Given the description of an element on the screen output the (x, y) to click on. 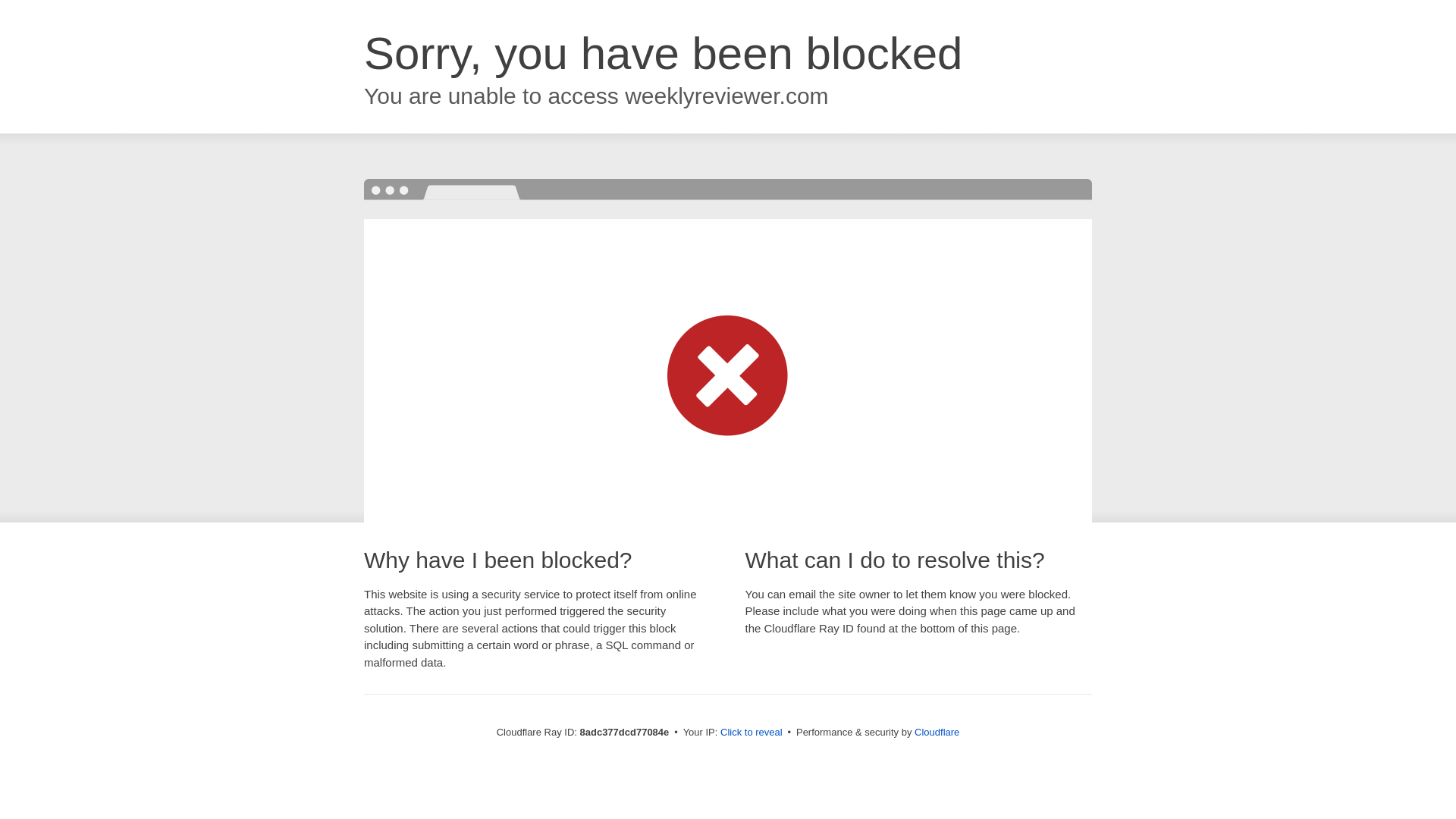
Cloudflare (936, 731)
Click to reveal (751, 732)
